Given the description of an element on the screen output the (x, y) to click on. 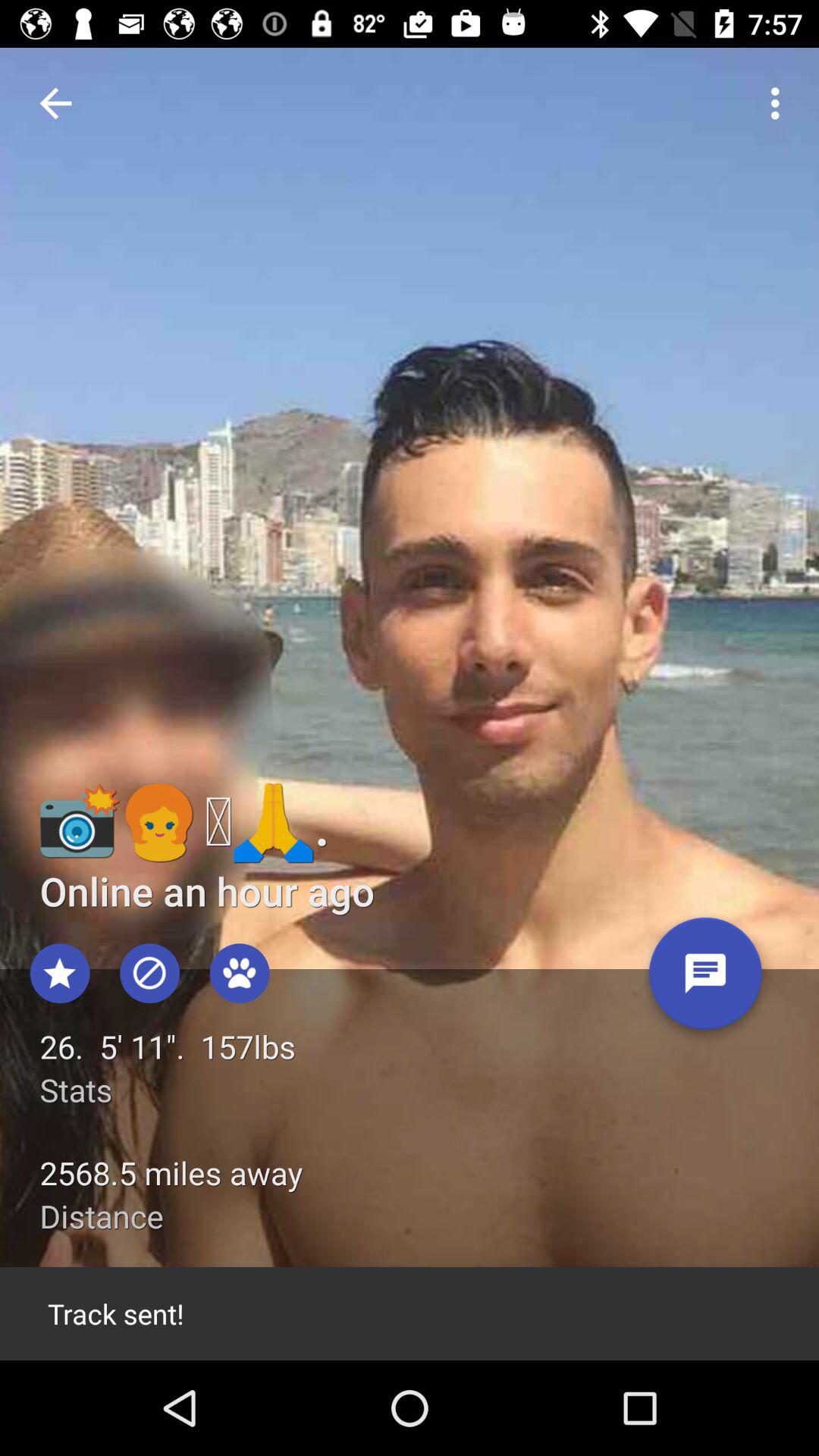
open item next to 26 5 11 item (705, 979)
